Given the description of an element on the screen output the (x, y) to click on. 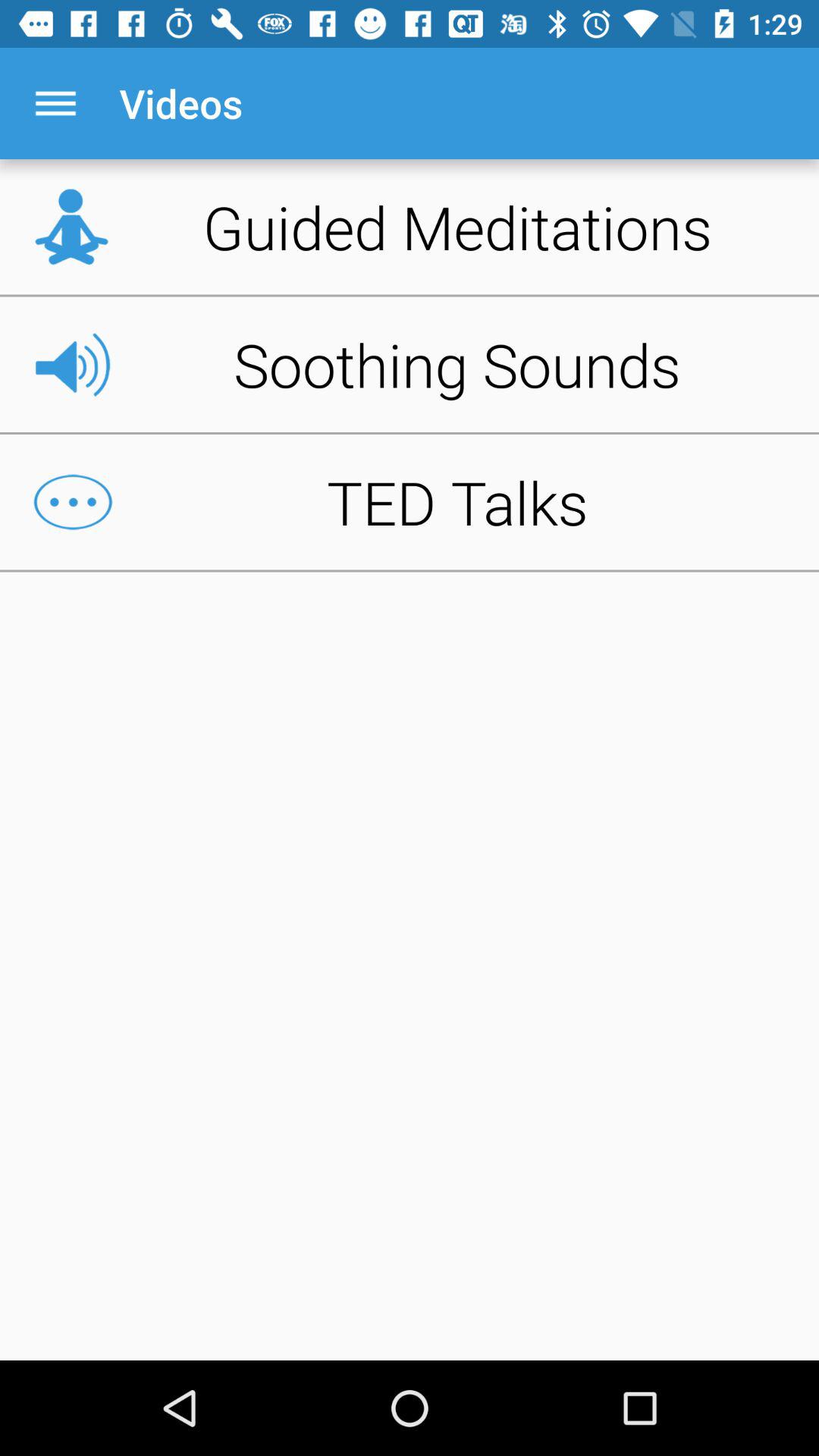
scroll until the ted talks button (409, 501)
